Given the description of an element on the screen output the (x, y) to click on. 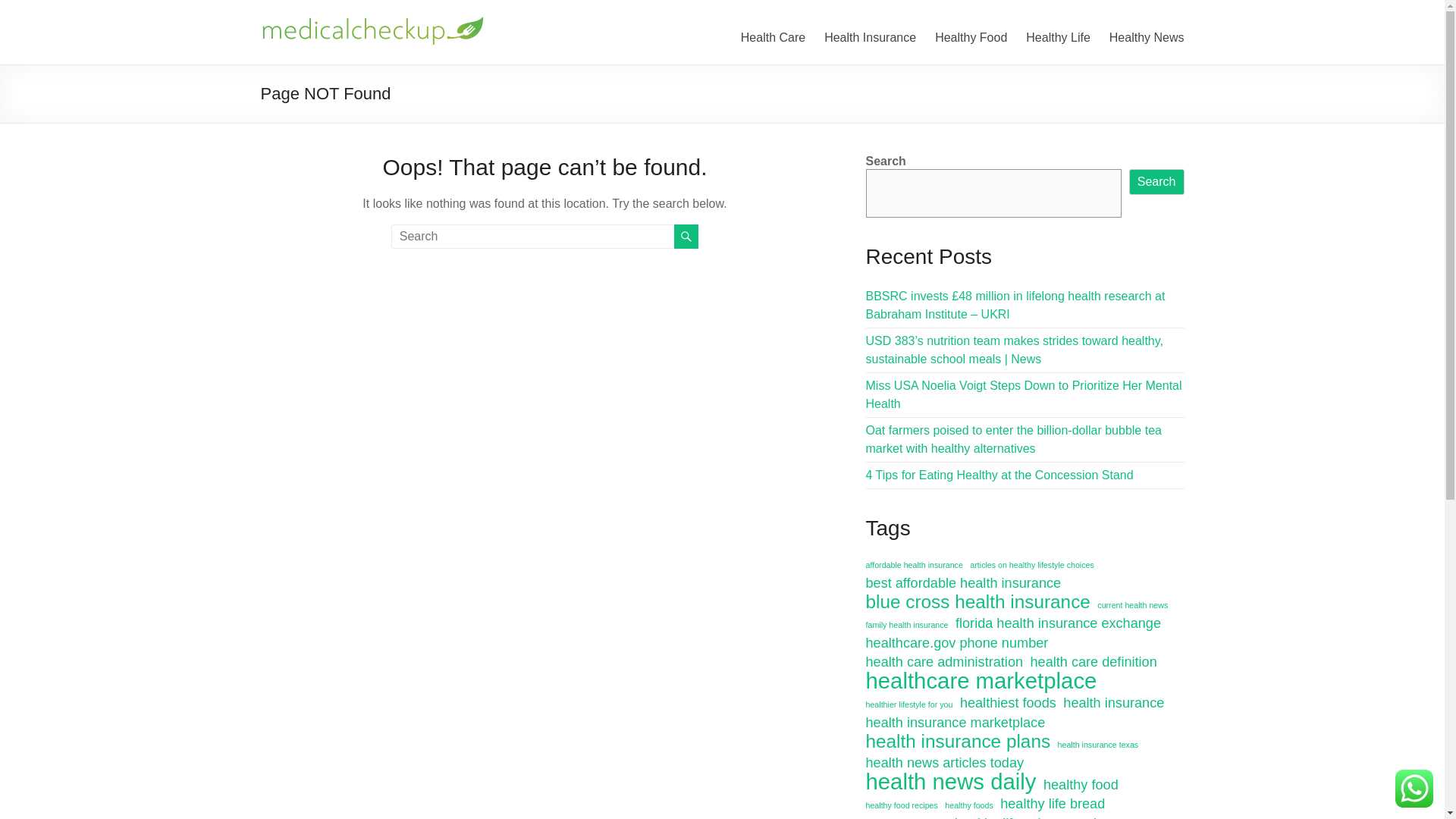
articles on healthy lifestyle choices (1031, 565)
healthiest foods (1008, 702)
4 Tips for Eating Healthy at the Concession Stand (1000, 474)
Search (1157, 181)
healthy lifestyle examples (1033, 816)
health insurance texas (1098, 744)
MCU (290, 30)
Healthy Life (1058, 37)
healthy foods (968, 805)
healthcare marketplace (981, 680)
current health news (1132, 605)
family health insurance (907, 624)
health news daily (951, 782)
healthy life bread (1052, 803)
